Given the description of an element on the screen output the (x, y) to click on. 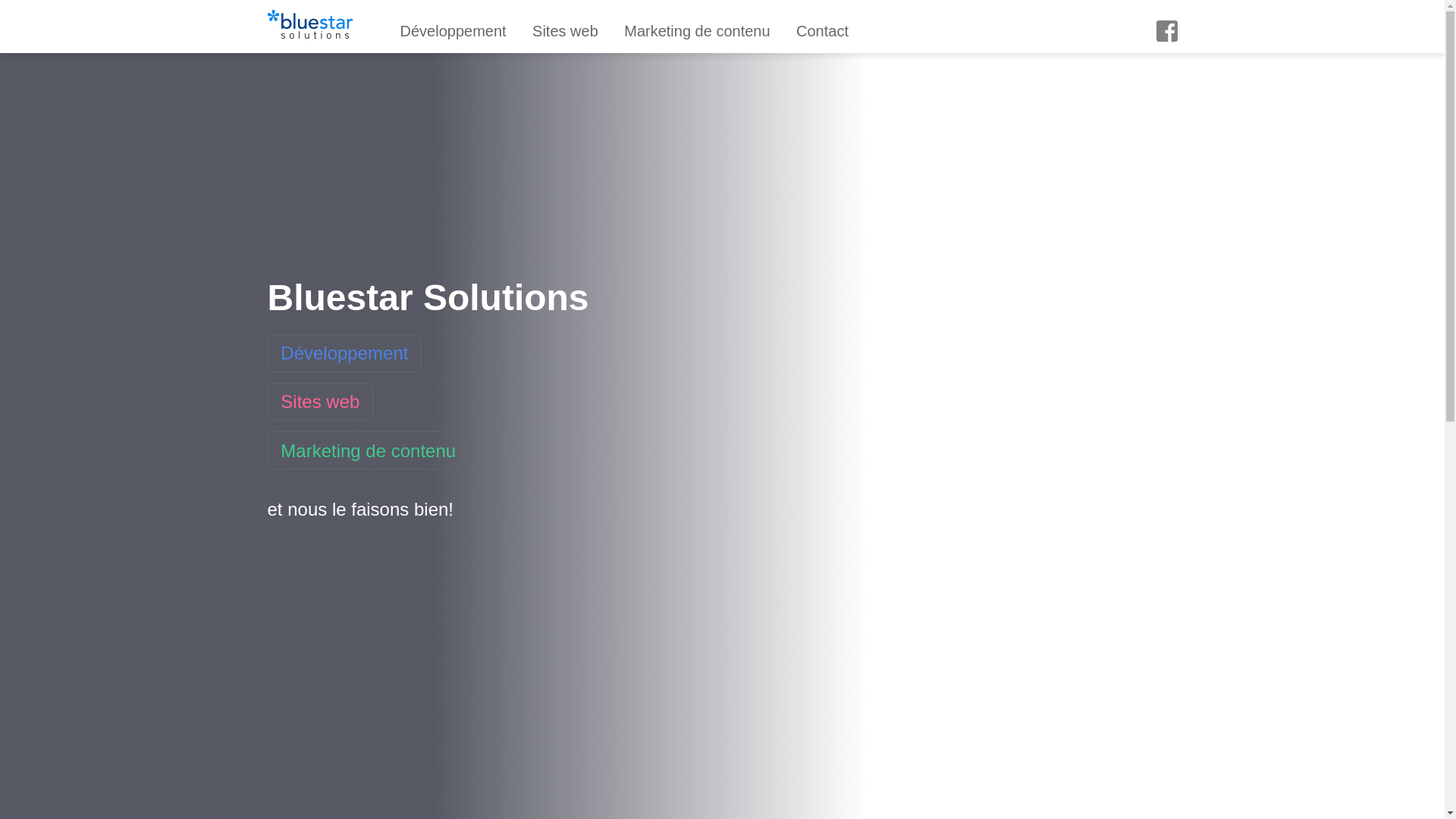
Accueil Element type: hover (308, 30)
Sites web Element type: text (564, 31)
Marketing de contenu Element type: text (696, 31)
Sites web Element type: text (319, 401)
Aller au contenu principal Element type: text (6, 6)
Marketing de contenu Element type: text (367, 450)
Contact Element type: text (821, 31)
